Given the description of an element on the screen output the (x, y) to click on. 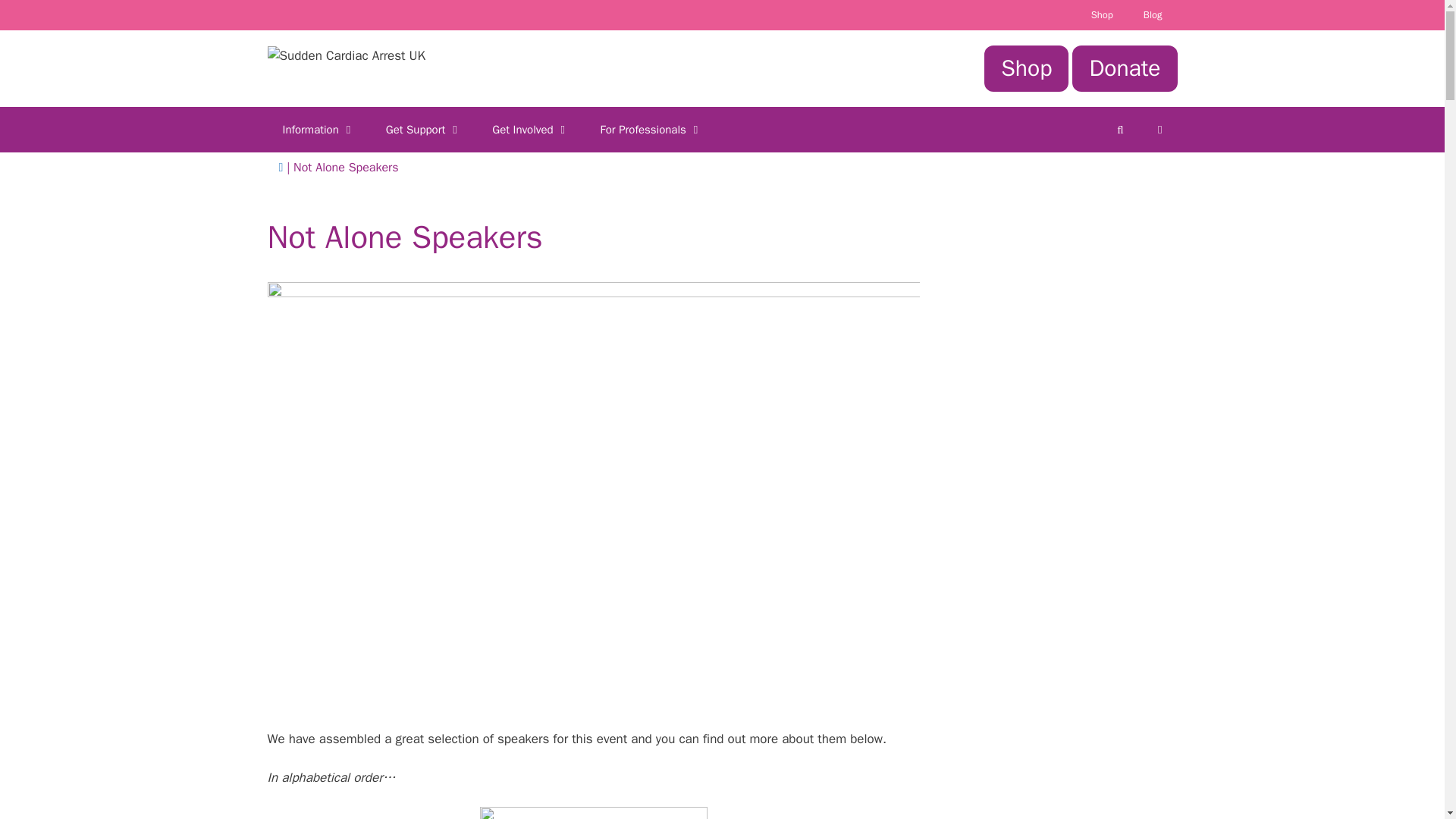
Shop (1026, 68)
Donate (1123, 68)
Blog (1152, 15)
Shop (1101, 15)
Information (317, 129)
